Given the description of an element on the screen output the (x, y) to click on. 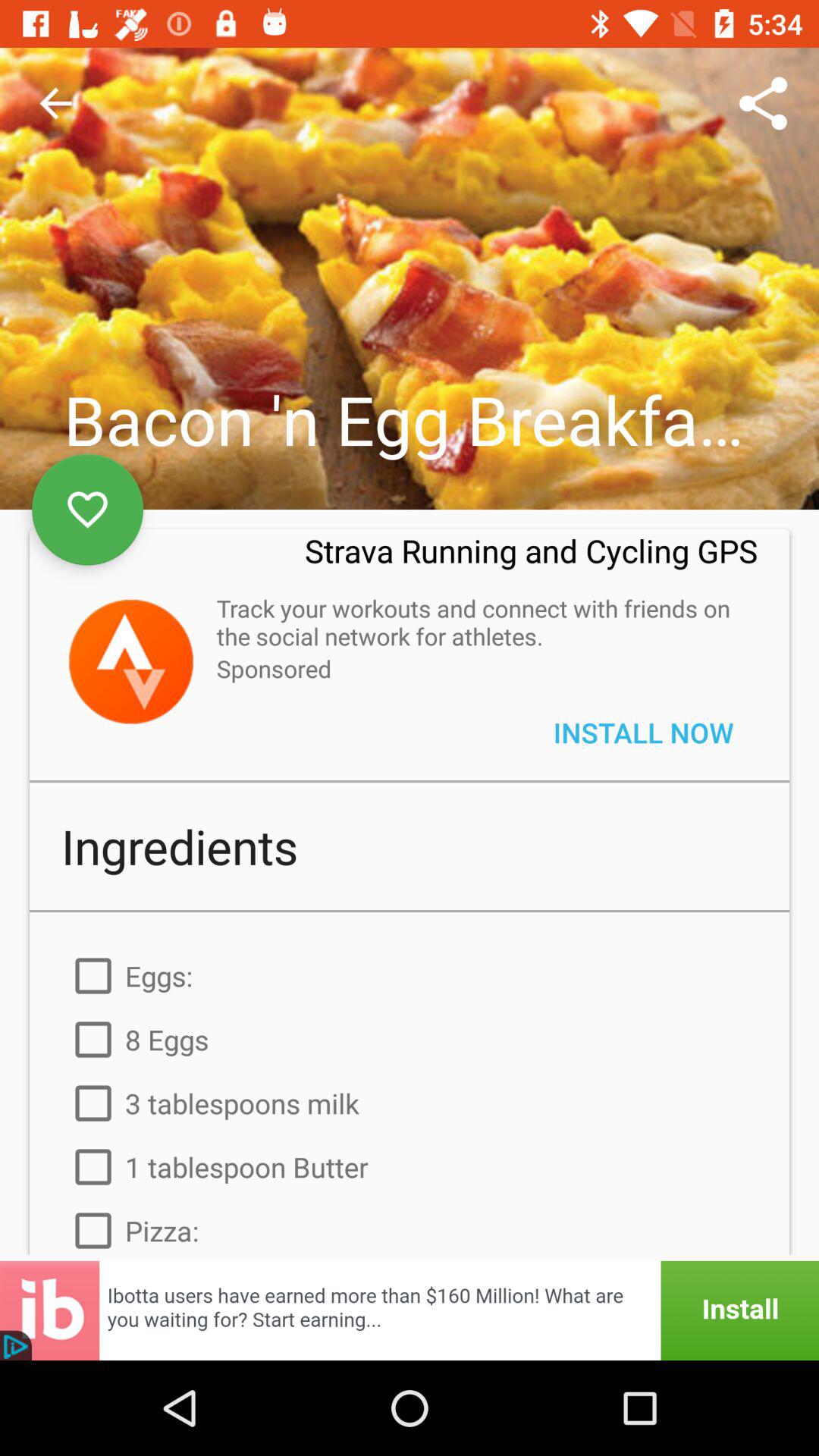
flip to 1 tablespoon butter item (409, 1166)
